Given the description of an element on the screen output the (x, y) to click on. 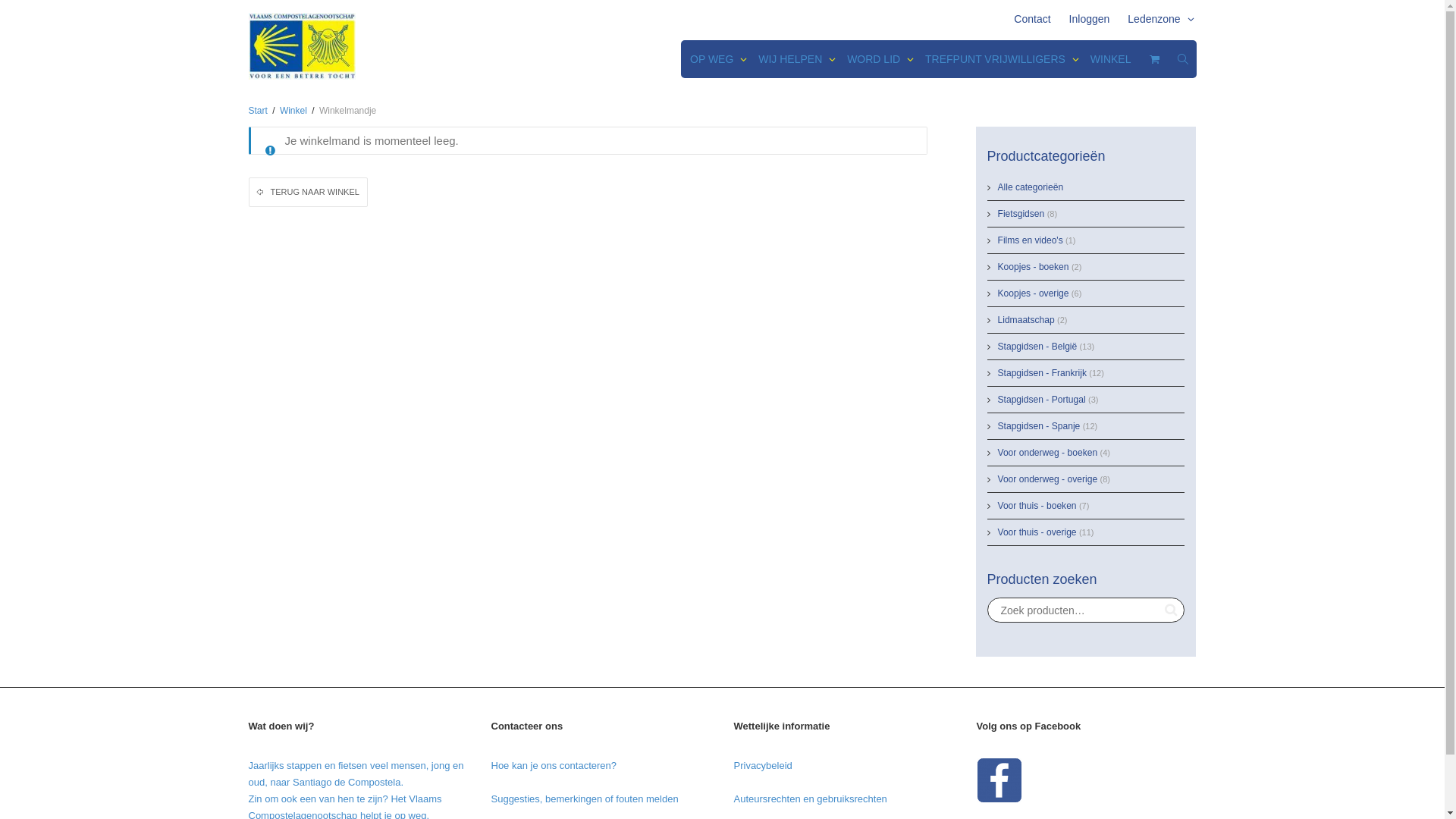
Ledenzone Element type: text (1156, 18)
Voor onderweg - boeken Element type: text (1047, 452)
Voor thuis - overige Element type: text (1036, 532)
Suggesties, bemerkingen of fouten melden Element type: text (584, 798)
TERUG NAAR WINKEL Element type: text (307, 192)
Inloggen Element type: text (1089, 18)
Voor onderweg - overige Element type: text (1047, 478)
OP WEG Element type: text (715, 59)
Vlaams Compostelagenootschap Element type: hover (301, 45)
Zoeken Element type: text (1170, 609)
Hoe kan je ons contacteren? Element type: text (554, 765)
Fietsgidsen Element type: text (1020, 213)
Stapgidsen - Frankrijk Element type: text (1041, 372)
Stapgidsen - Portugal Element type: text (1041, 399)
Koopjes - boeken Element type: text (1033, 266)
Volg ons op Facebook Element type: hover (999, 780)
WINKEL Element type: text (1110, 59)
Start Element type: text (257, 110)
Stapgidsen - Spanje Element type: text (1038, 425)
Voor thuis - boeken Element type: text (1036, 505)
Lidmaatschap Element type: text (1025, 319)
Winkelmand bekijken Element type: hover (1154, 59)
WORD LID Element type: text (876, 59)
Winkel Element type: text (293, 110)
Films en video's Element type: text (1030, 240)
Auteursrechten en gebruiksrechten Element type: text (810, 798)
Contact Element type: text (1031, 18)
TREFPUNT VRIJWILLIGERS Element type: text (998, 59)
WIJ HELPEN Element type: text (793, 59)
Koopjes - overige Element type: text (1033, 293)
Privacybeleid Element type: text (763, 765)
